Given the description of an element on the screen output the (x, y) to click on. 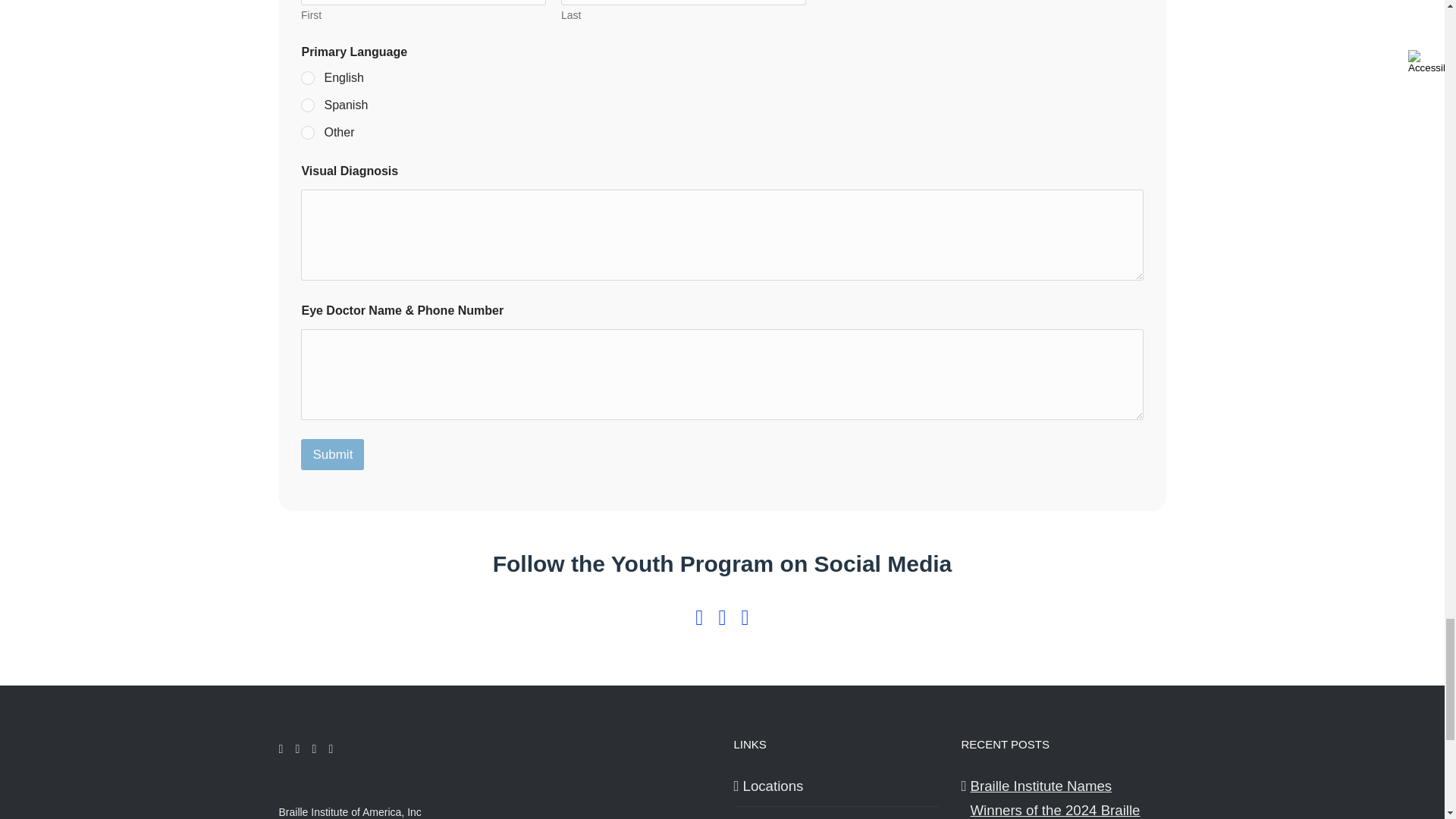
Spanish (308, 105)
English (308, 78)
Other (308, 133)
